Given the description of an element on the screen output the (x, y) to click on. 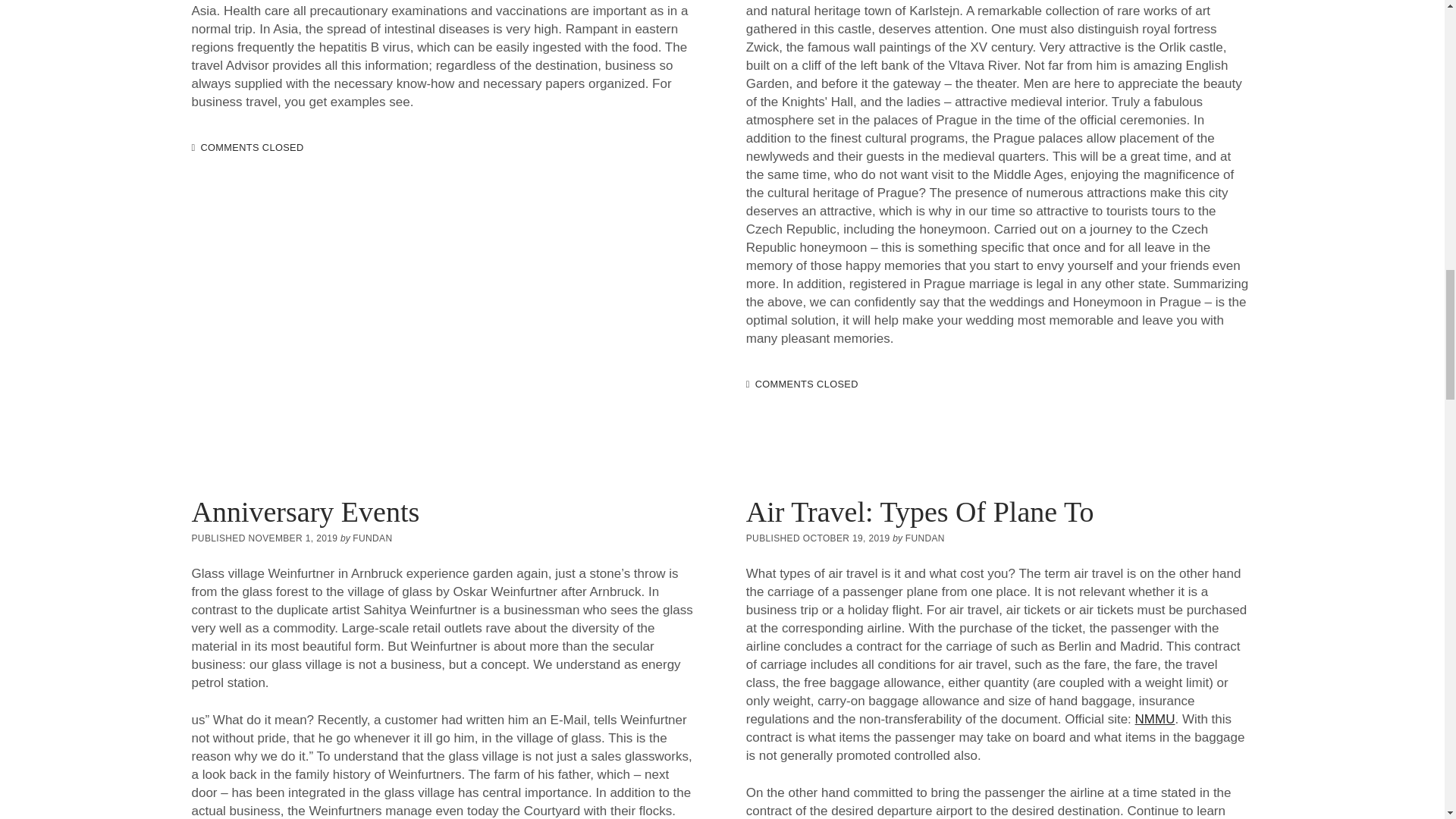
Anniversary Events (304, 511)
comment icon (747, 384)
comment icon (192, 148)
NMMU (1154, 718)
Air Travel: Types Of Plane To (919, 511)
